Given the description of an element on the screen output the (x, y) to click on. 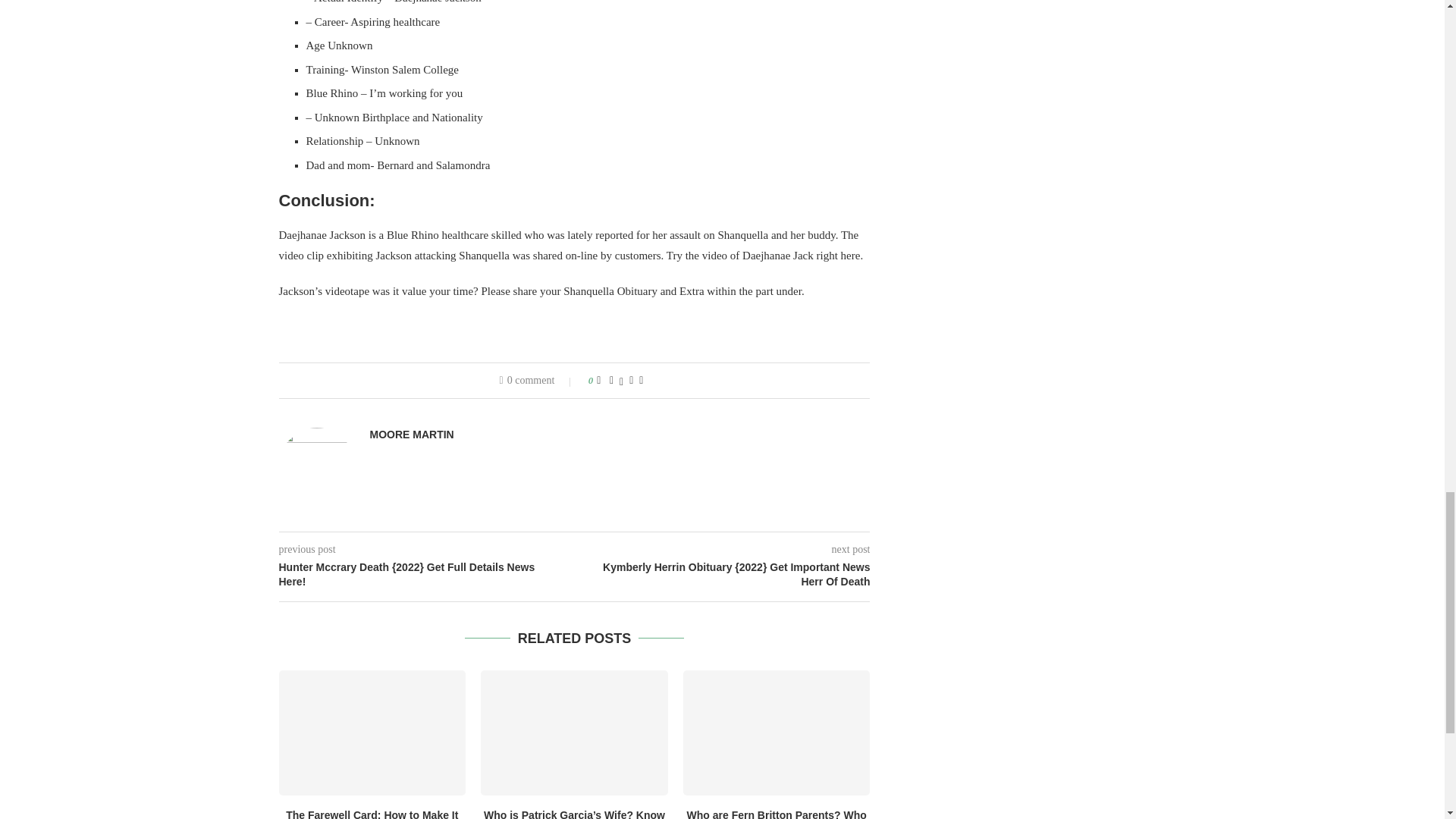
The Farewell Card: How to Make It Memorably Good (372, 732)
MOORE MARTIN (411, 434)
Author Moore Martin (411, 434)
The Farewell Card: How to Make It Memorably... (371, 814)
